Given the description of an element on the screen output the (x, y) to click on. 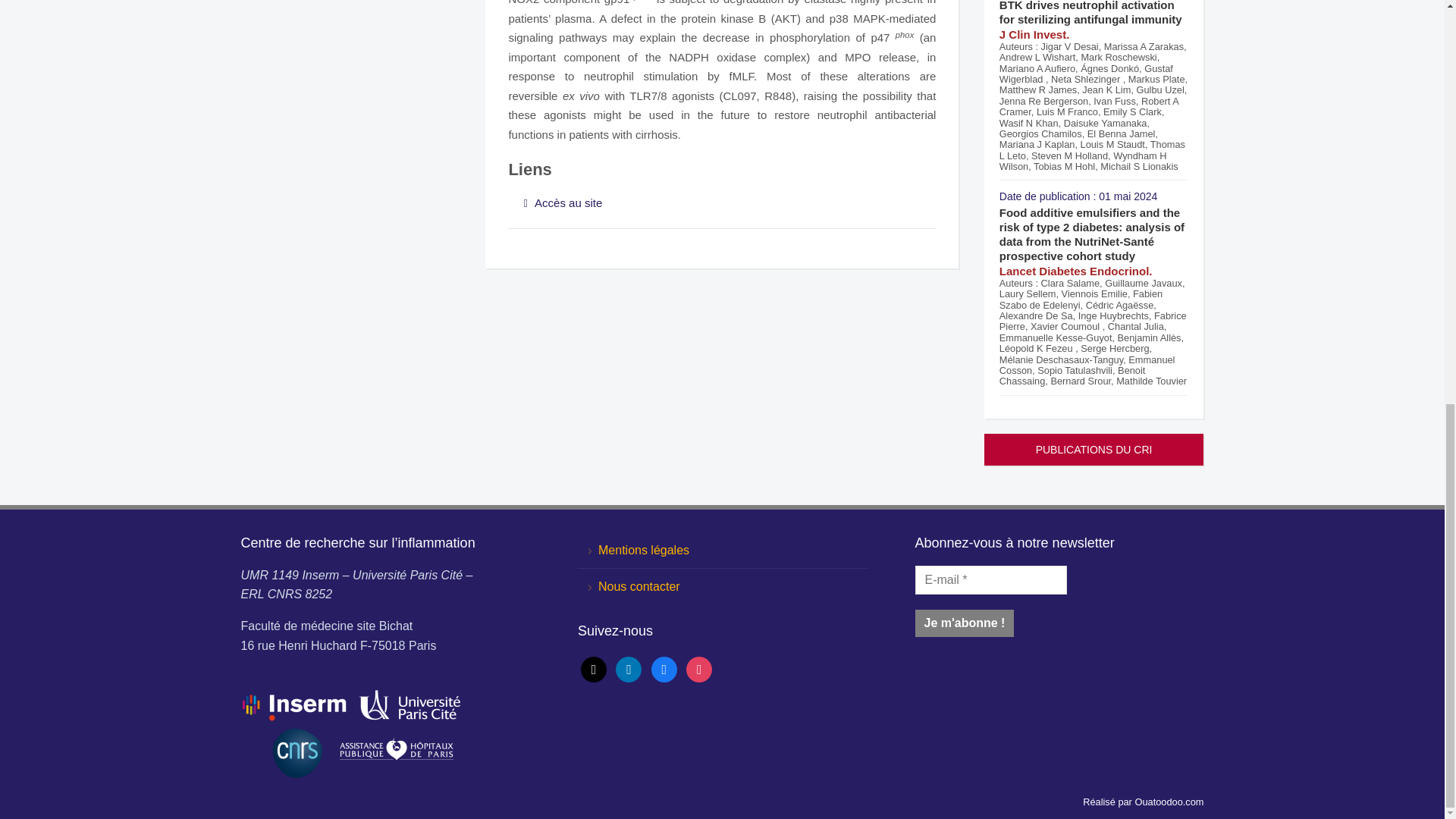
Instagram (698, 667)
Facebook (663, 667)
Default Label (628, 667)
Twitter (593, 667)
E-mail (989, 579)
